Given the description of an element on the screen output the (x, y) to click on. 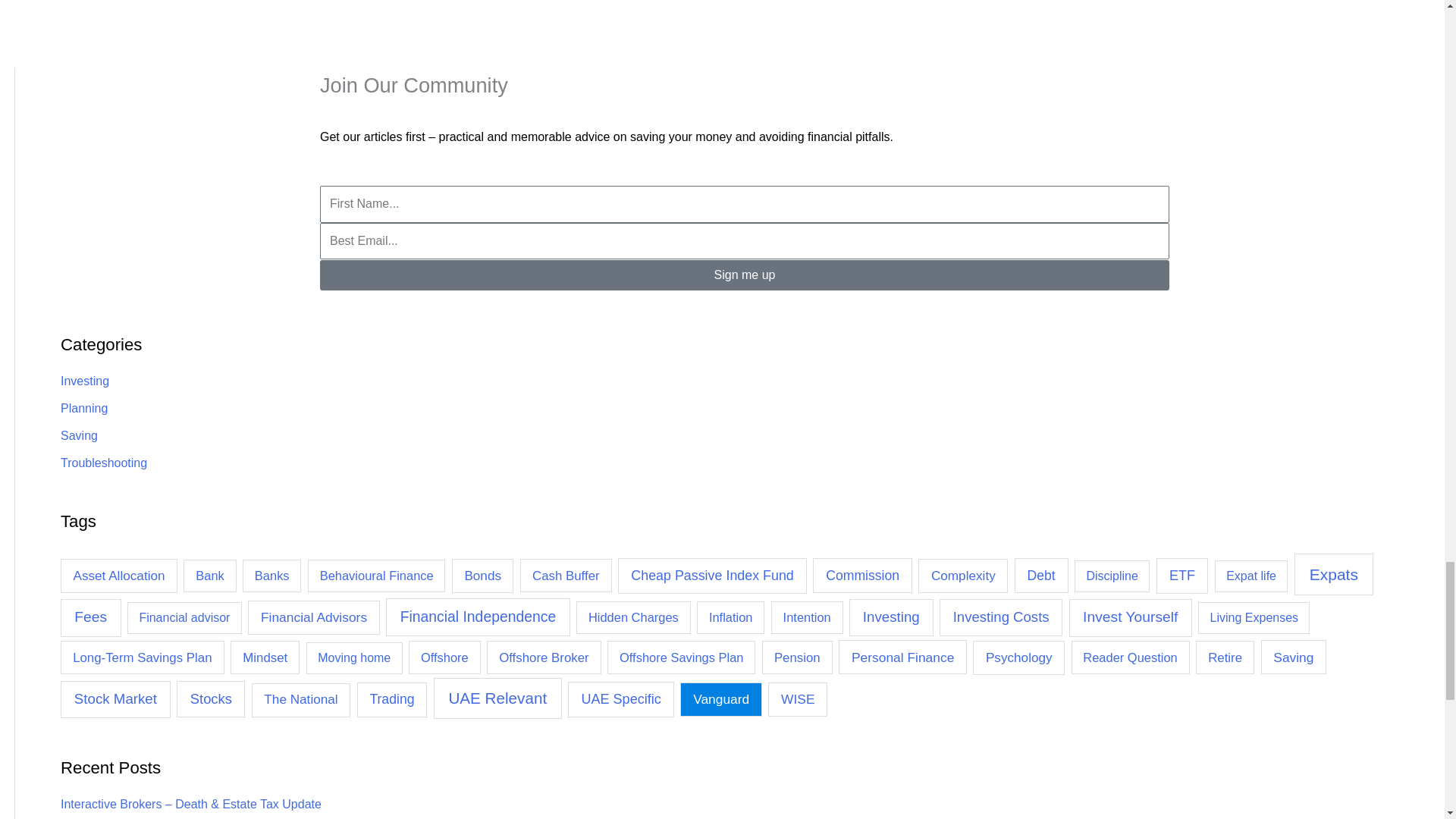
Investing (85, 380)
Planning (84, 408)
Sign me up (744, 275)
